Given the description of an element on the screen output the (x, y) to click on. 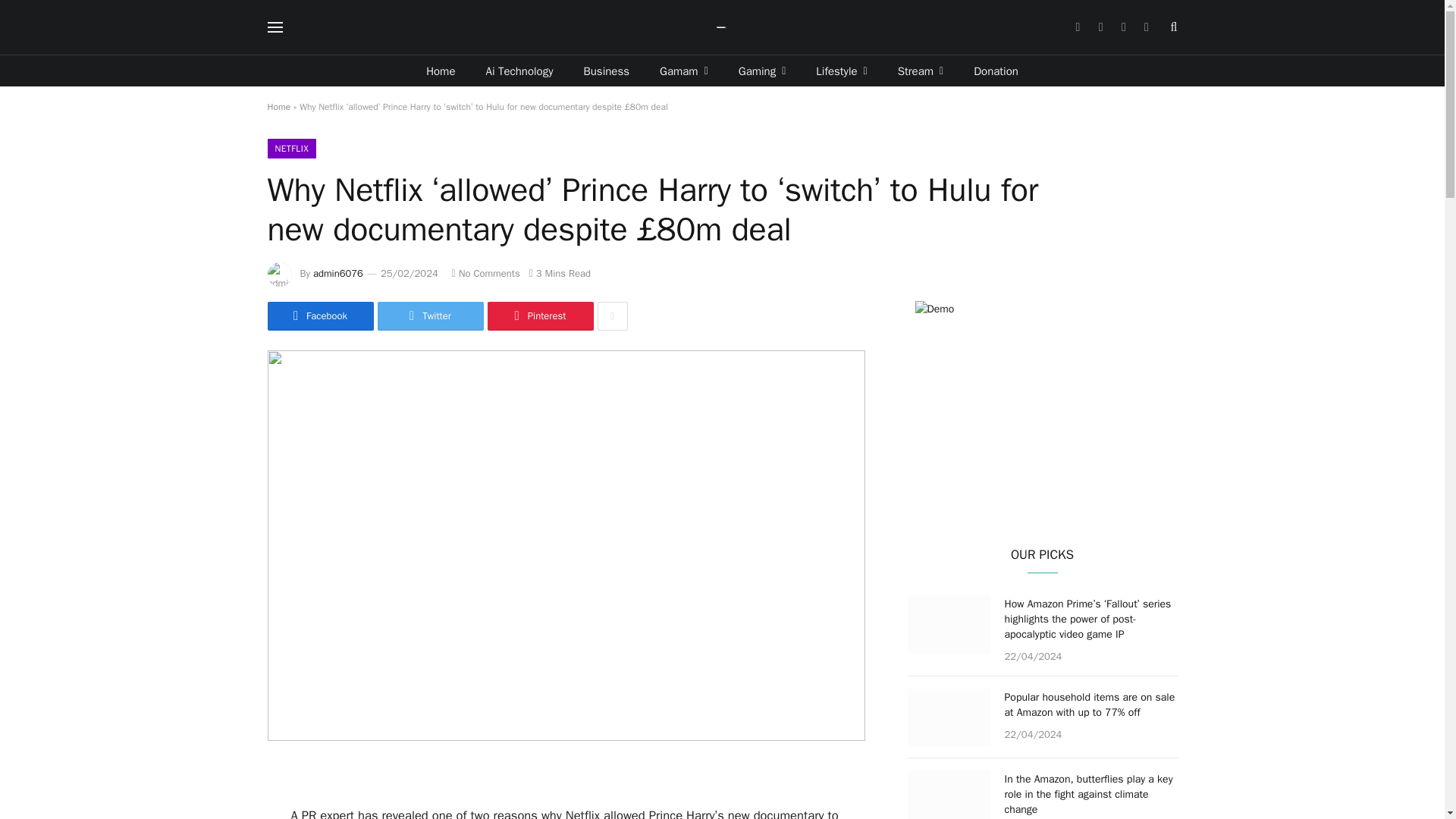
Show More Social Sharing (611, 316)
Posts by admin6076 (337, 273)
Share on Pinterest (539, 316)
Share on Facebook (319, 316)
